Given the description of an element on the screen output the (x, y) to click on. 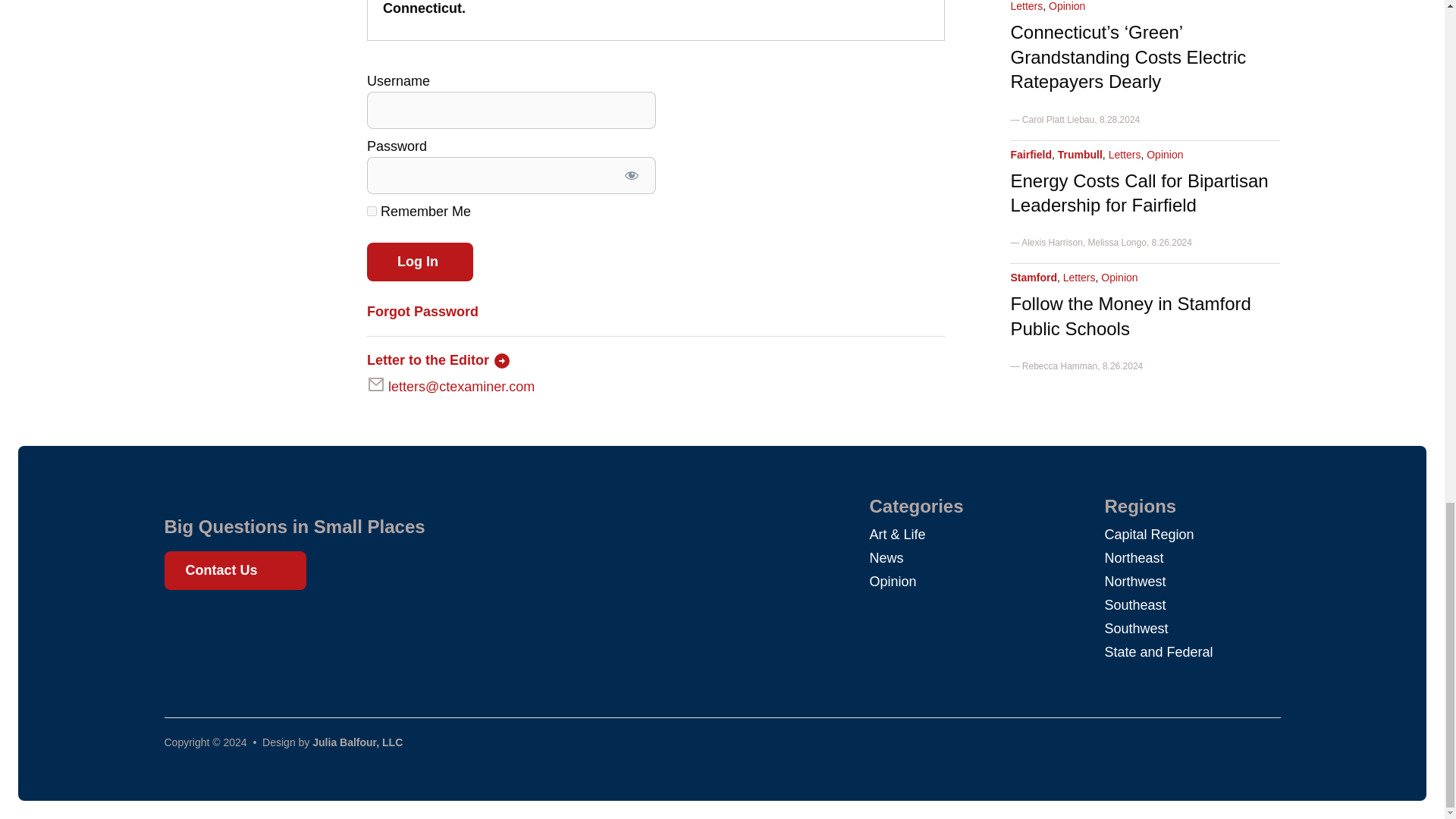
twitter (210, 625)
forever (371, 211)
Log In (419, 261)
facebook (183, 625)
instagram (238, 625)
